Given the description of an element on the screen output the (x, y) to click on. 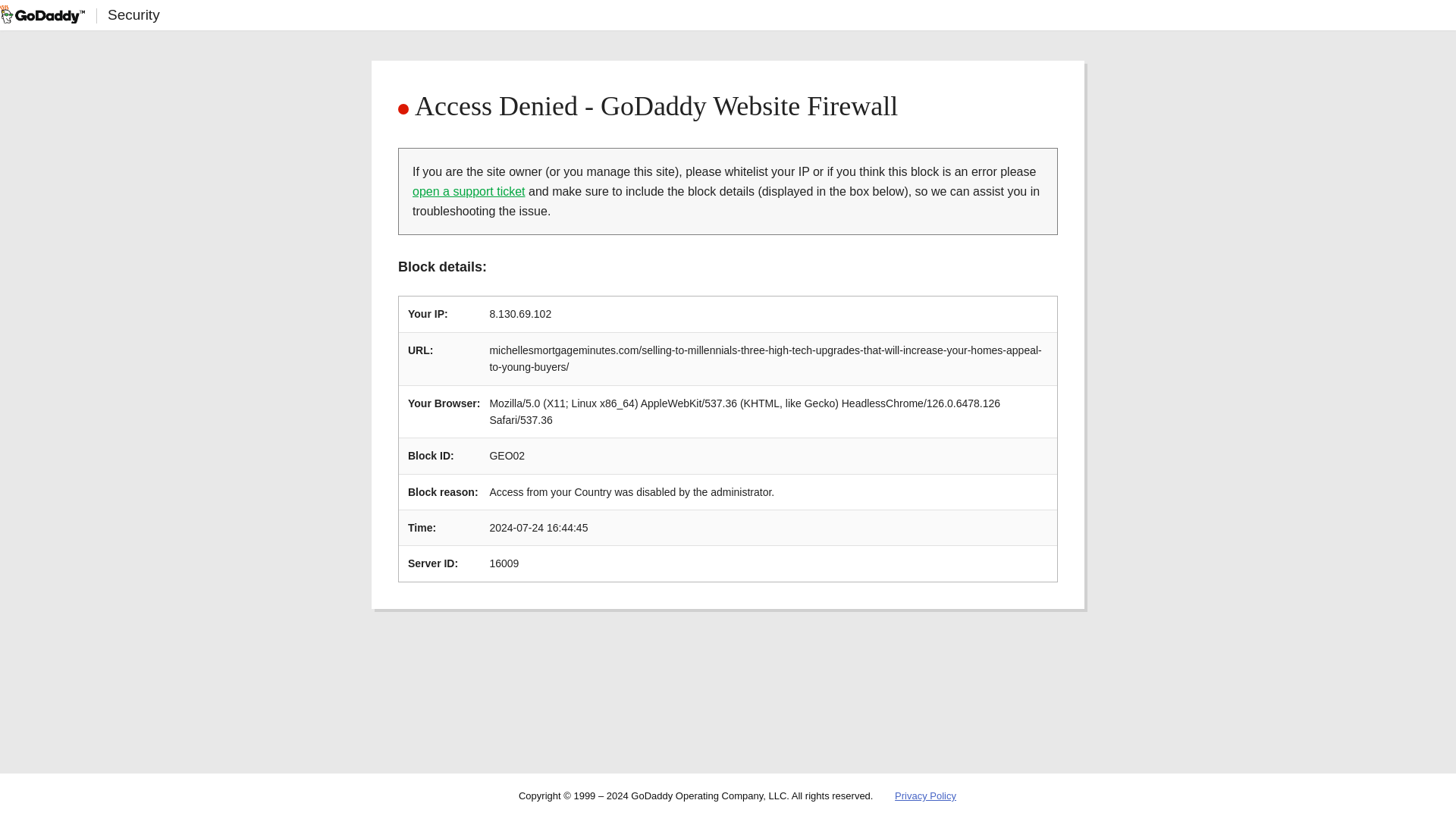
Privacy Policy (925, 795)
open a support ticket (468, 191)
